Given the description of an element on the screen output the (x, y) to click on. 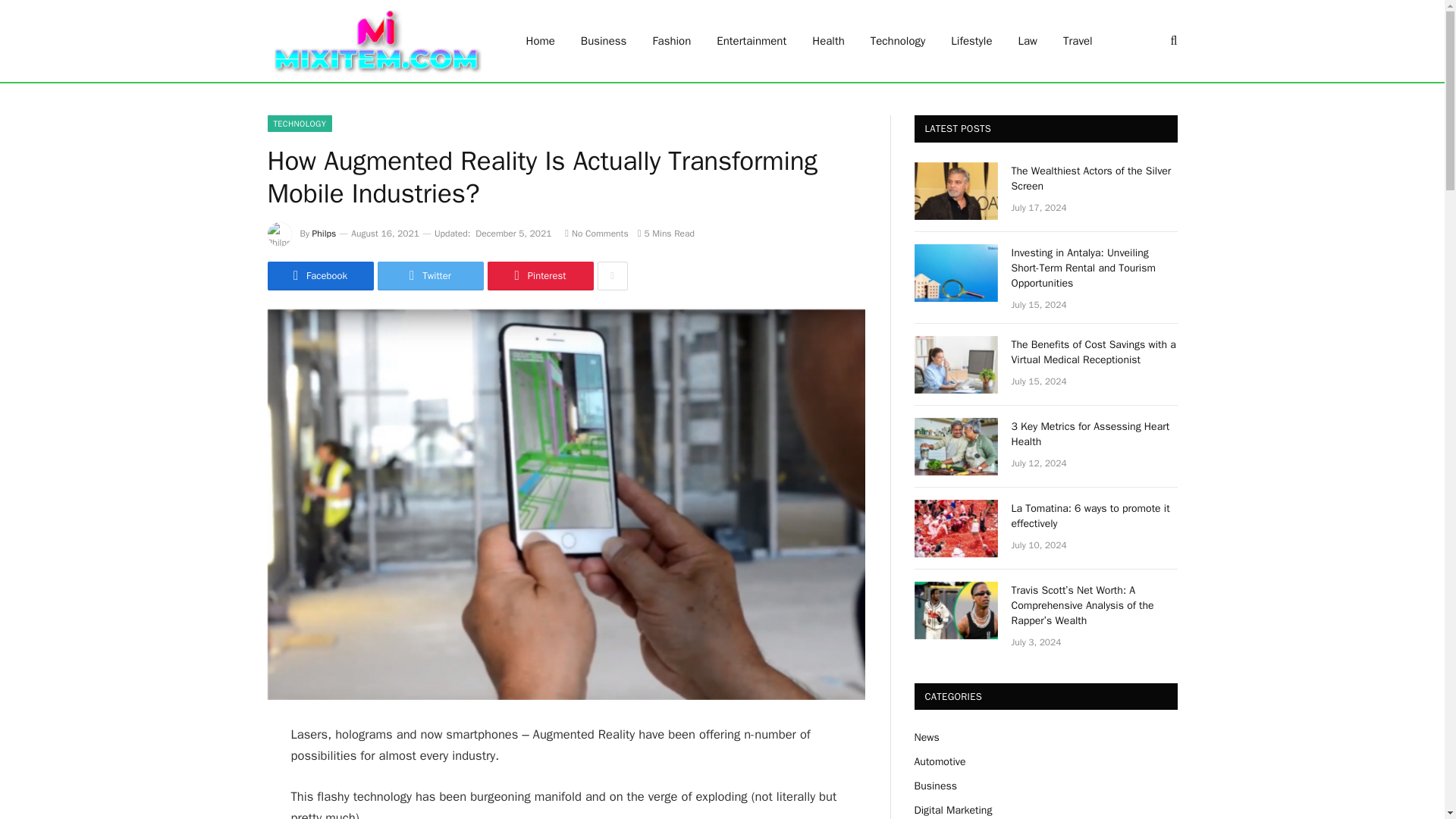
Pinterest (539, 275)
Posts by Philps (324, 233)
Facebook (319, 275)
Technology (898, 40)
TECHNOLOGY (298, 123)
No Comments (595, 233)
Philps (324, 233)
Share on Pinterest (539, 275)
Twitter (430, 275)
Show More Social Sharing (611, 275)
Entertainment (751, 40)
MixItem (376, 41)
Share on Facebook (319, 275)
